Given the description of an element on the screen output the (x, y) to click on. 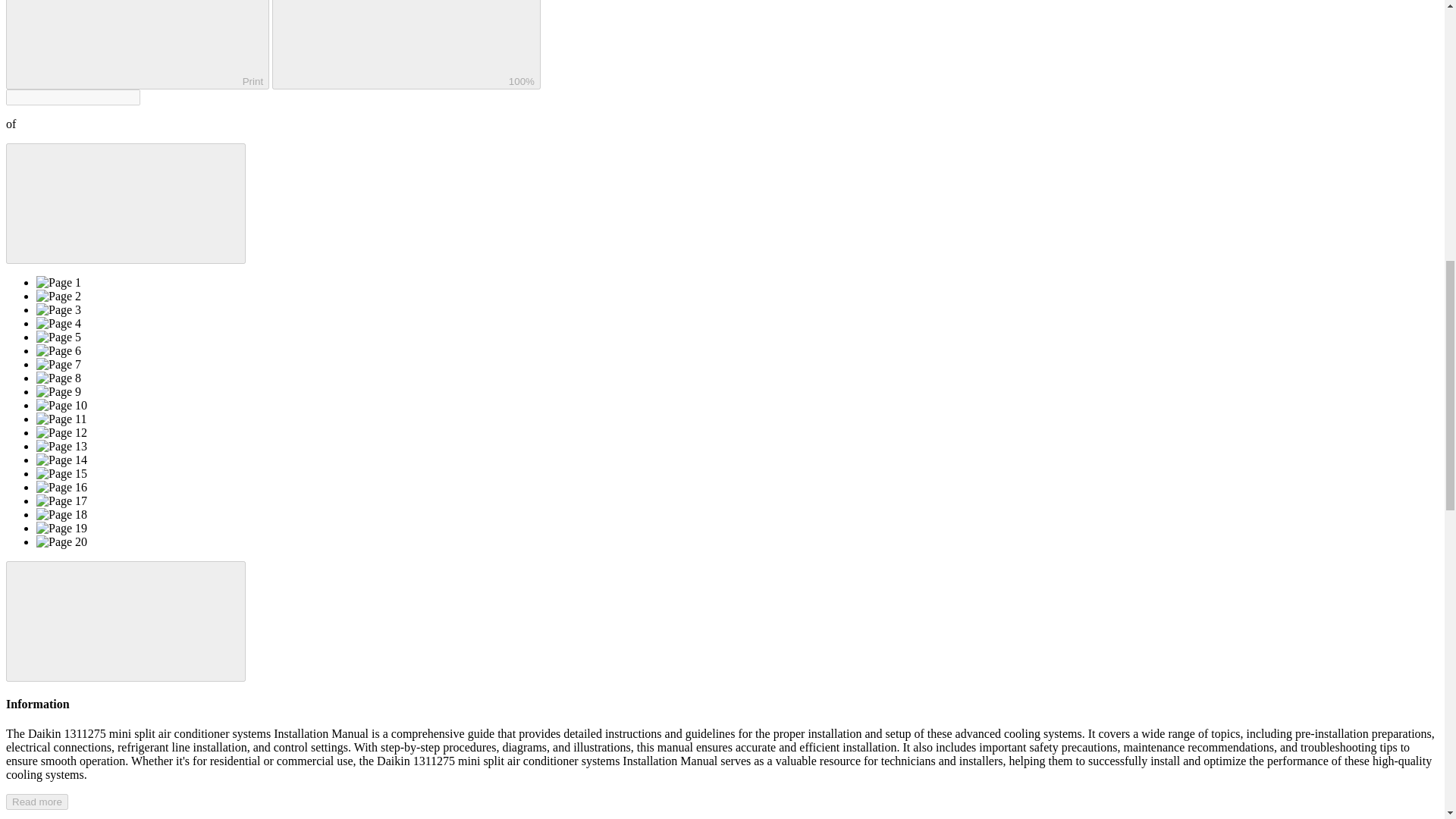
Zoom in (406, 44)
Print (137, 44)
Print (137, 44)
Read more (36, 801)
